Given the description of an element on the screen output the (x, y) to click on. 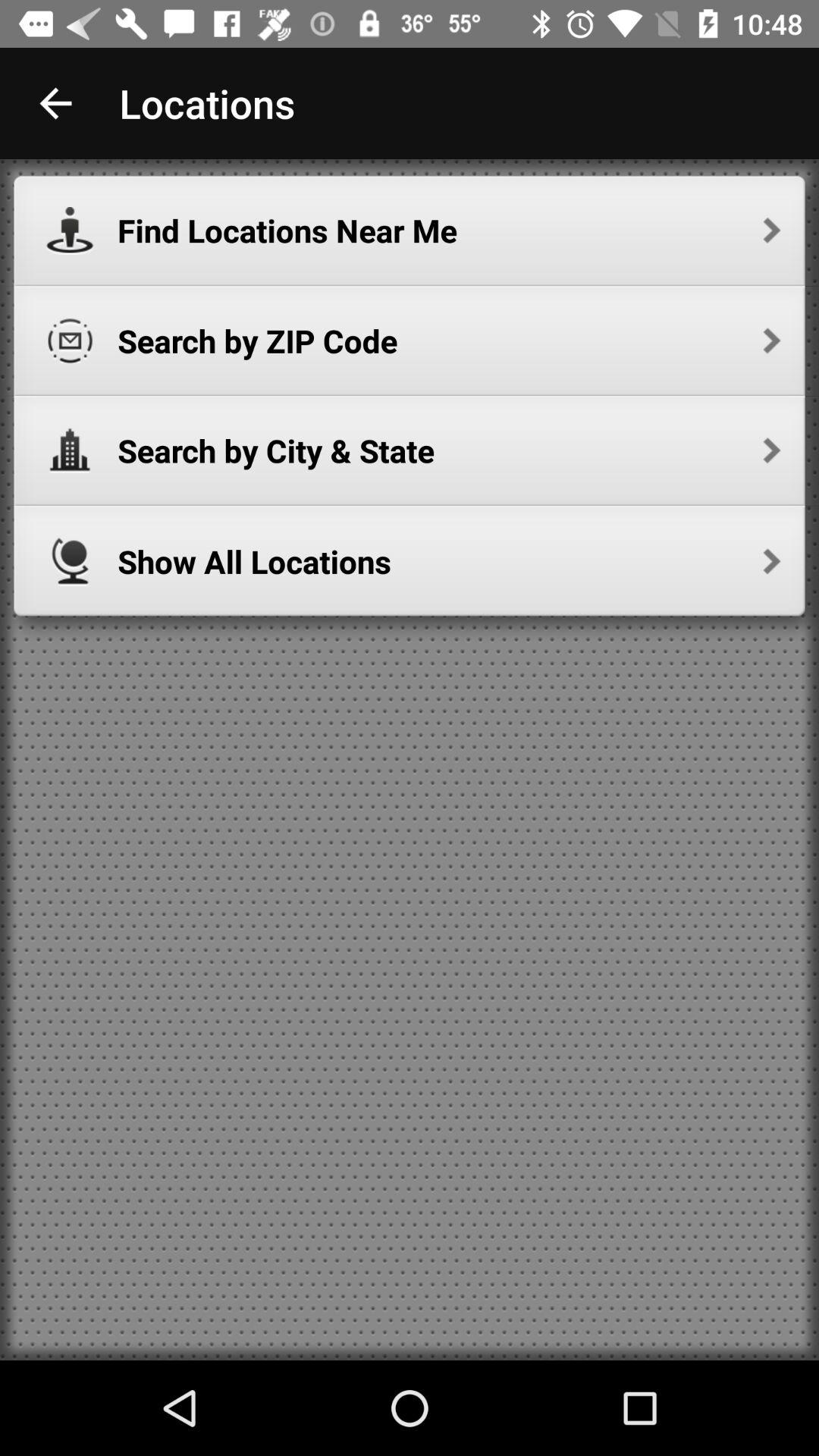
flip until the show all locations icon (448, 561)
